Given the description of an element on the screen output the (x, y) to click on. 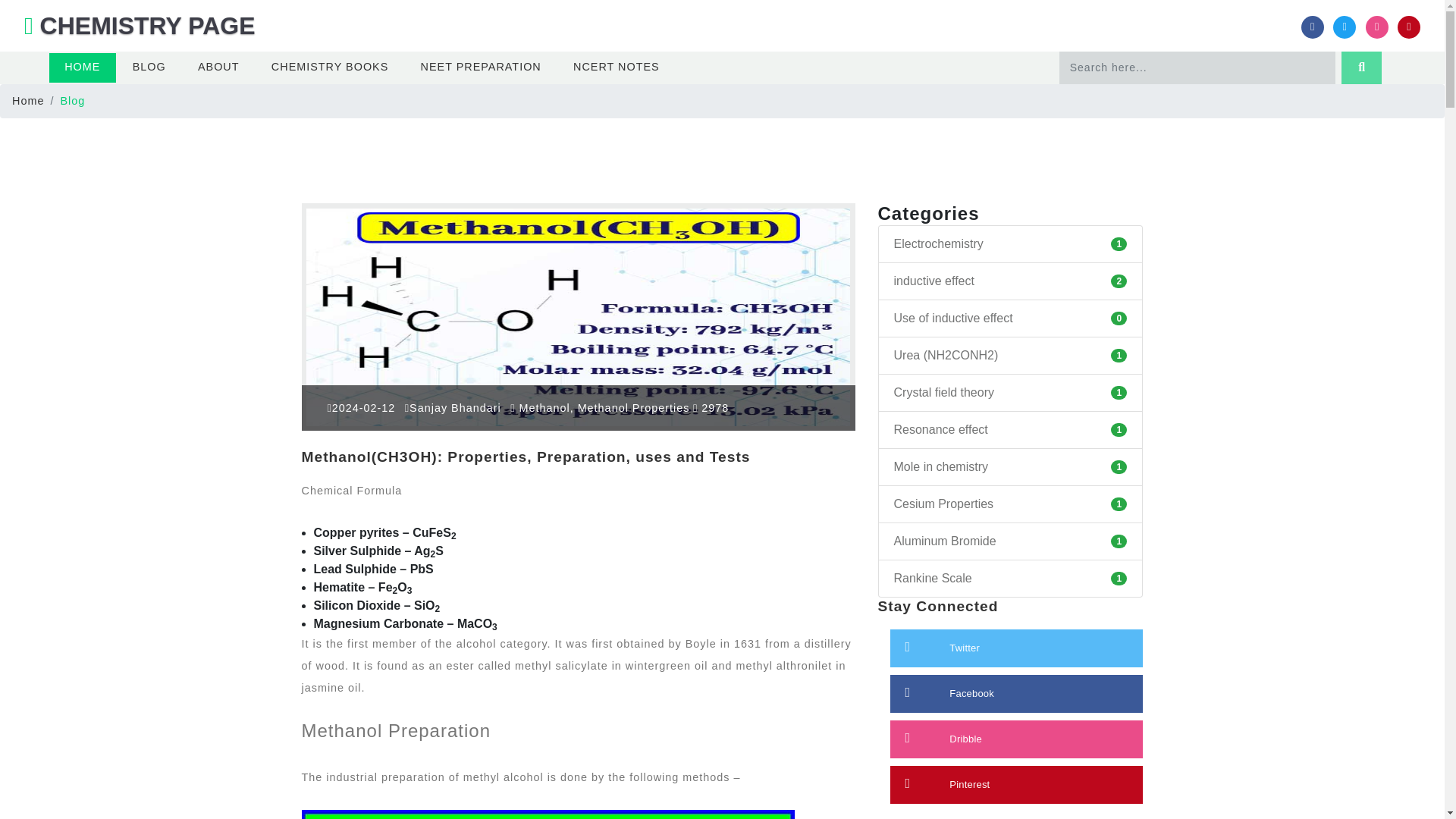
2024-02-12 (361, 408)
CHEMISTRY BOOKS (330, 67)
Home (27, 101)
2978 (711, 408)
BLOG (148, 67)
CHEMISTRY PAGE (139, 25)
ABOUT (218, 67)
NEET PREPARATION (480, 67)
NCERT NOTES (616, 67)
Methanol, Methanol Properties (599, 408)
